Given the description of an element on the screen output the (x, y) to click on. 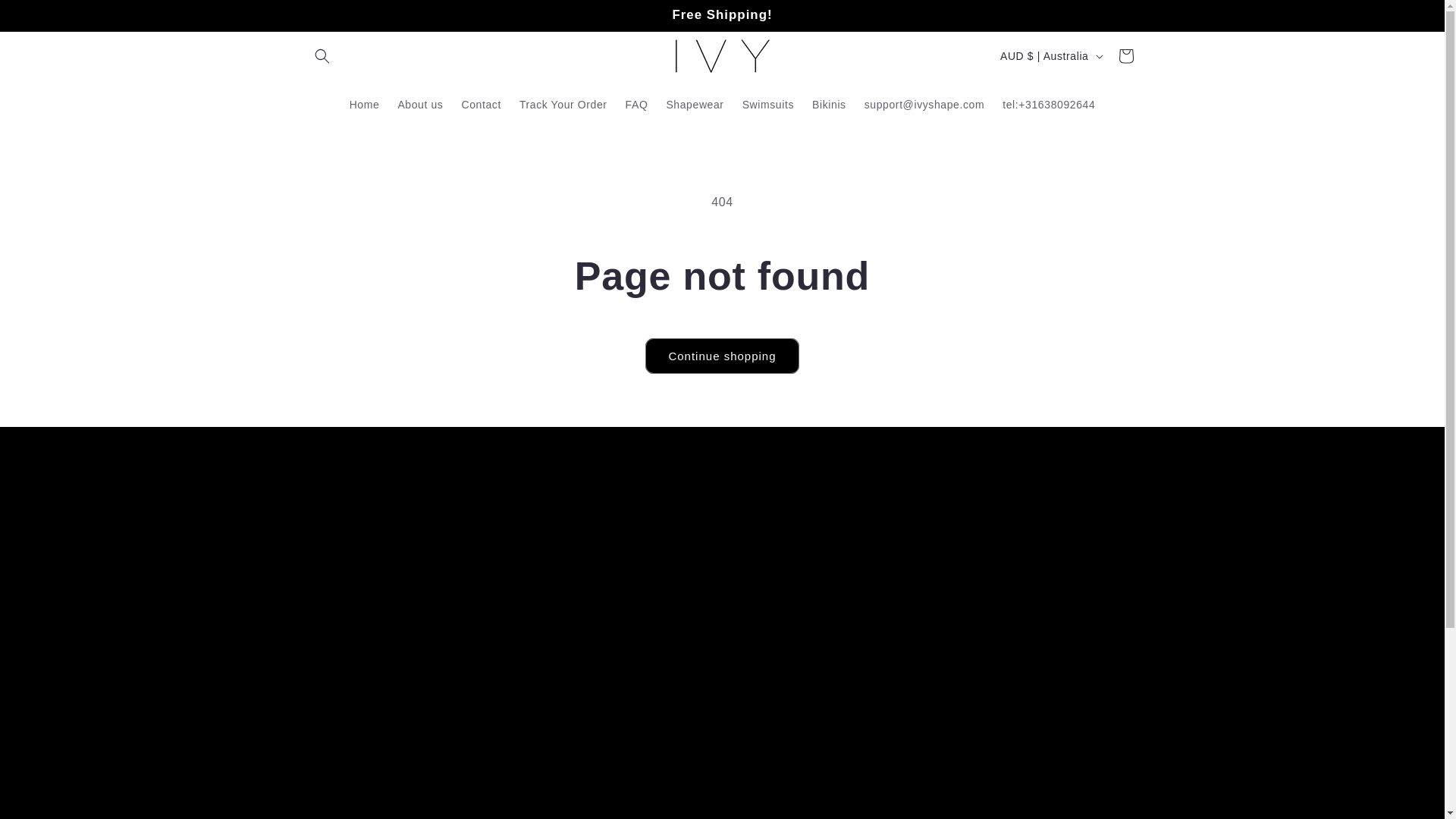
Home (364, 104)
Search (754, 540)
Track Your Order (563, 104)
Cart (1124, 55)
Privacy Policy (772, 645)
Swimsuits (768, 104)
Shapewear (694, 104)
Track Your Order (780, 591)
Continue shopping (721, 355)
Bikinis (829, 104)
